Given the description of an element on the screen output the (x, y) to click on. 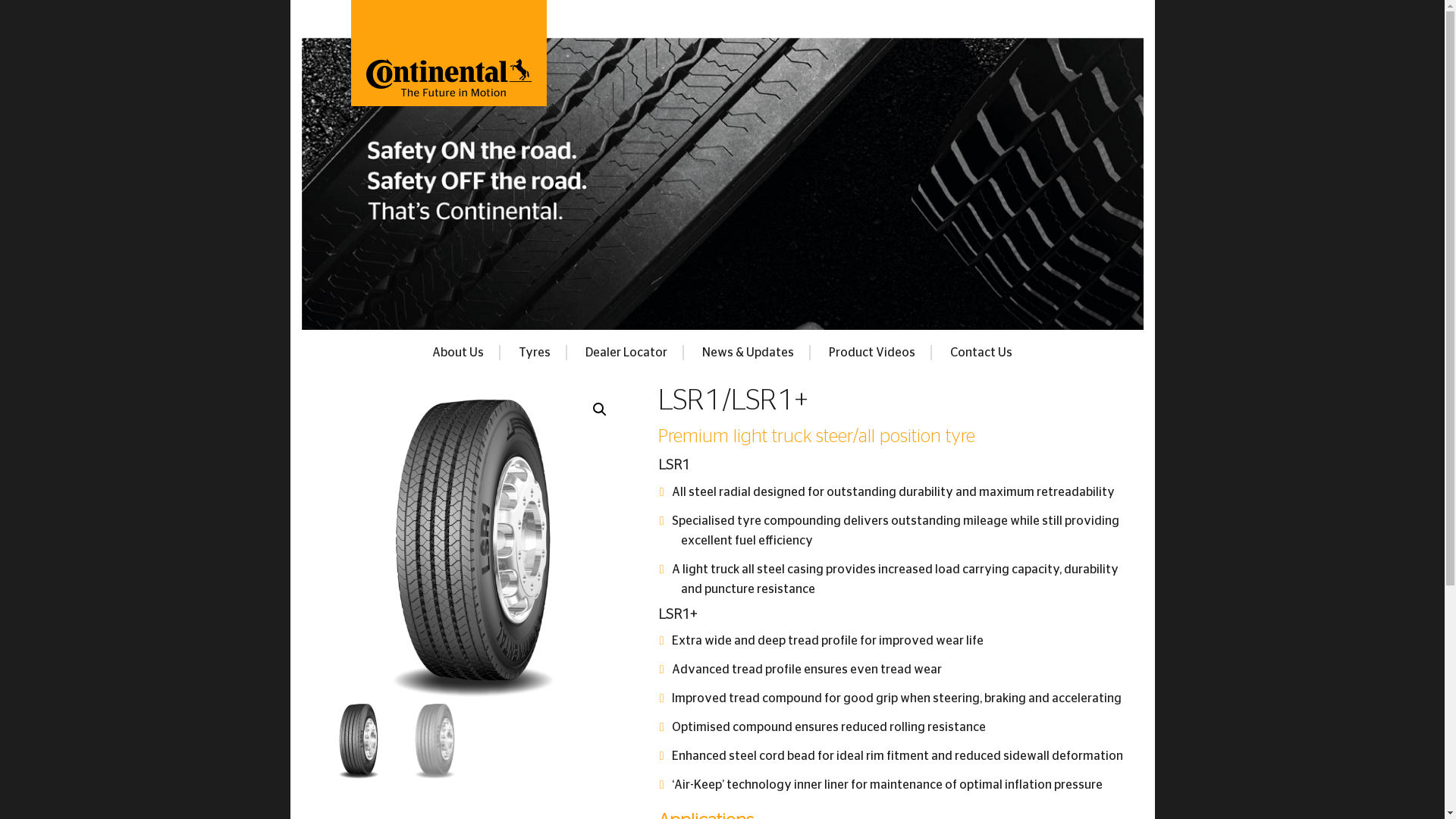
Tyres Element type: text (535, 352)
Skip to primary navigation Element type: text (289, 0)
Contact Us Element type: text (981, 352)
LSR Element type: hover (472, 551)
Product Videos Element type: text (872, 352)
Continental Truck Tyres Element type: text (448, 68)
Dealer Locator Element type: text (627, 352)
About Us Element type: text (458, 352)
News & Updates Element type: text (748, 352)
